Given the description of an element on the screen output the (x, y) to click on. 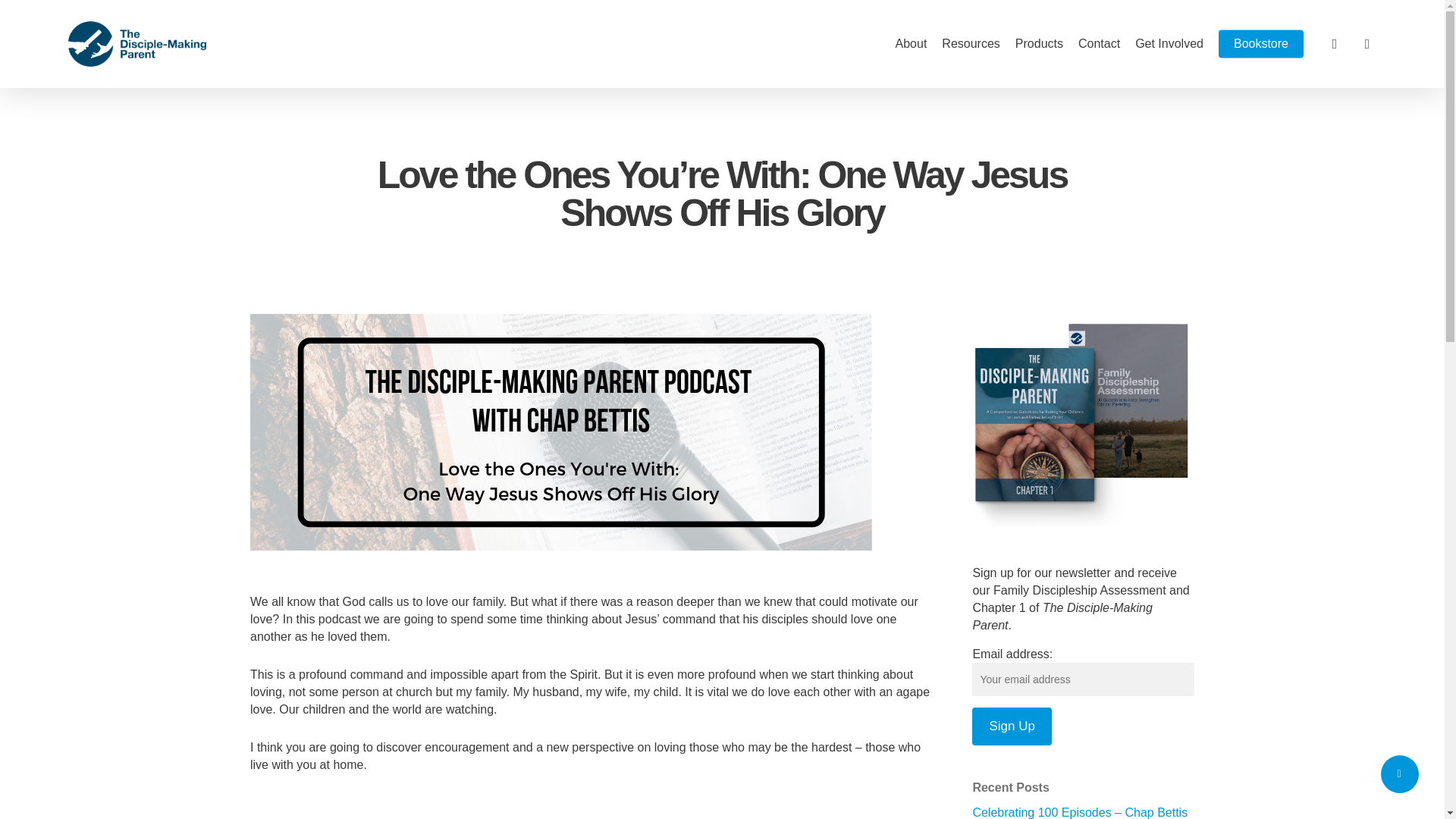
Bookstore (1260, 43)
Get Involved (1169, 43)
Contact (1098, 43)
About (911, 43)
search (1333, 43)
account (1366, 43)
Resources (970, 43)
Sign Up (1011, 726)
Sign Up (1011, 726)
Products (1038, 43)
